Given the description of an element on the screen output the (x, y) to click on. 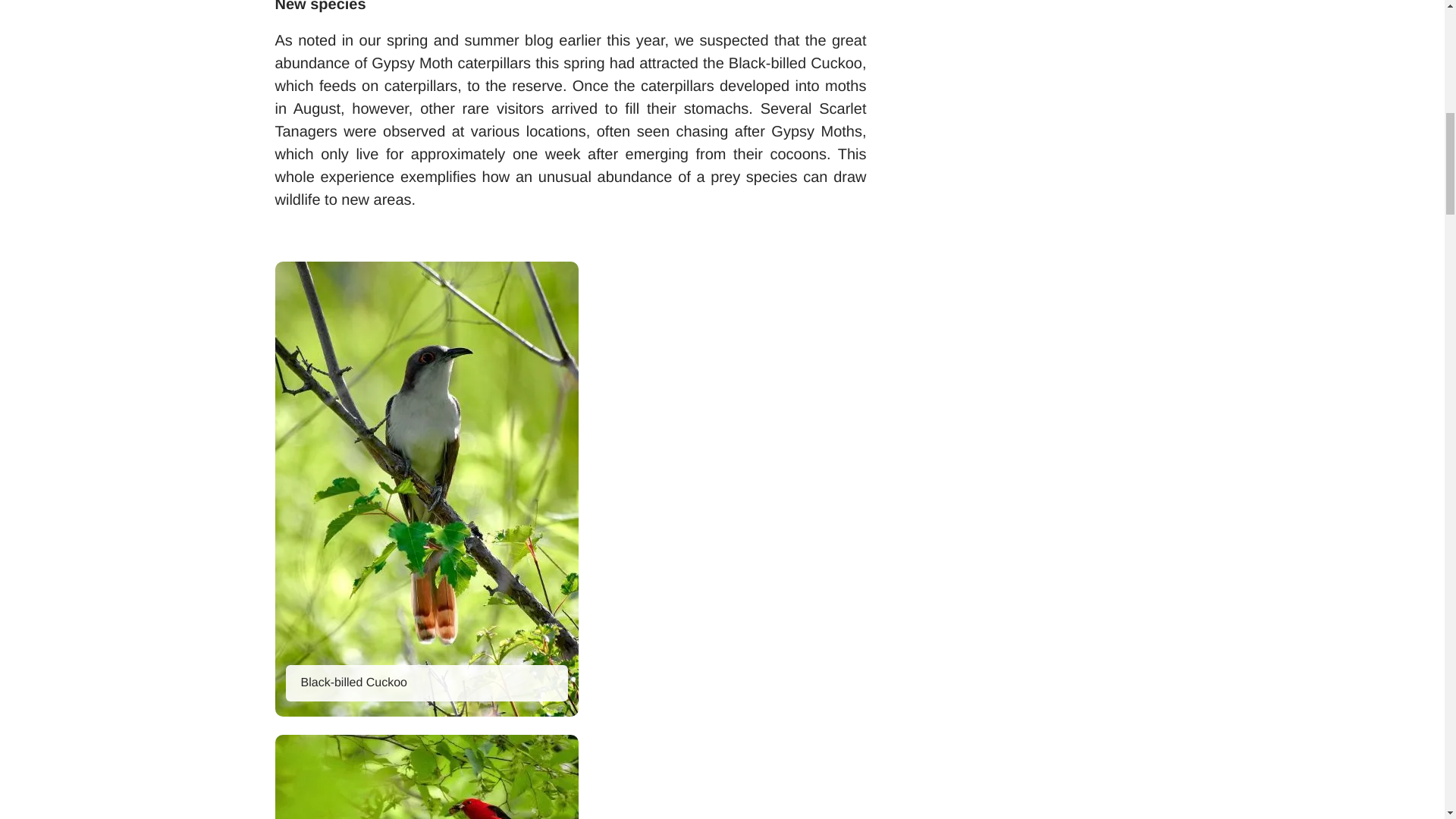
Jump to Top of Page (1366, 73)
